Given the description of an element on the screen output the (x, y) to click on. 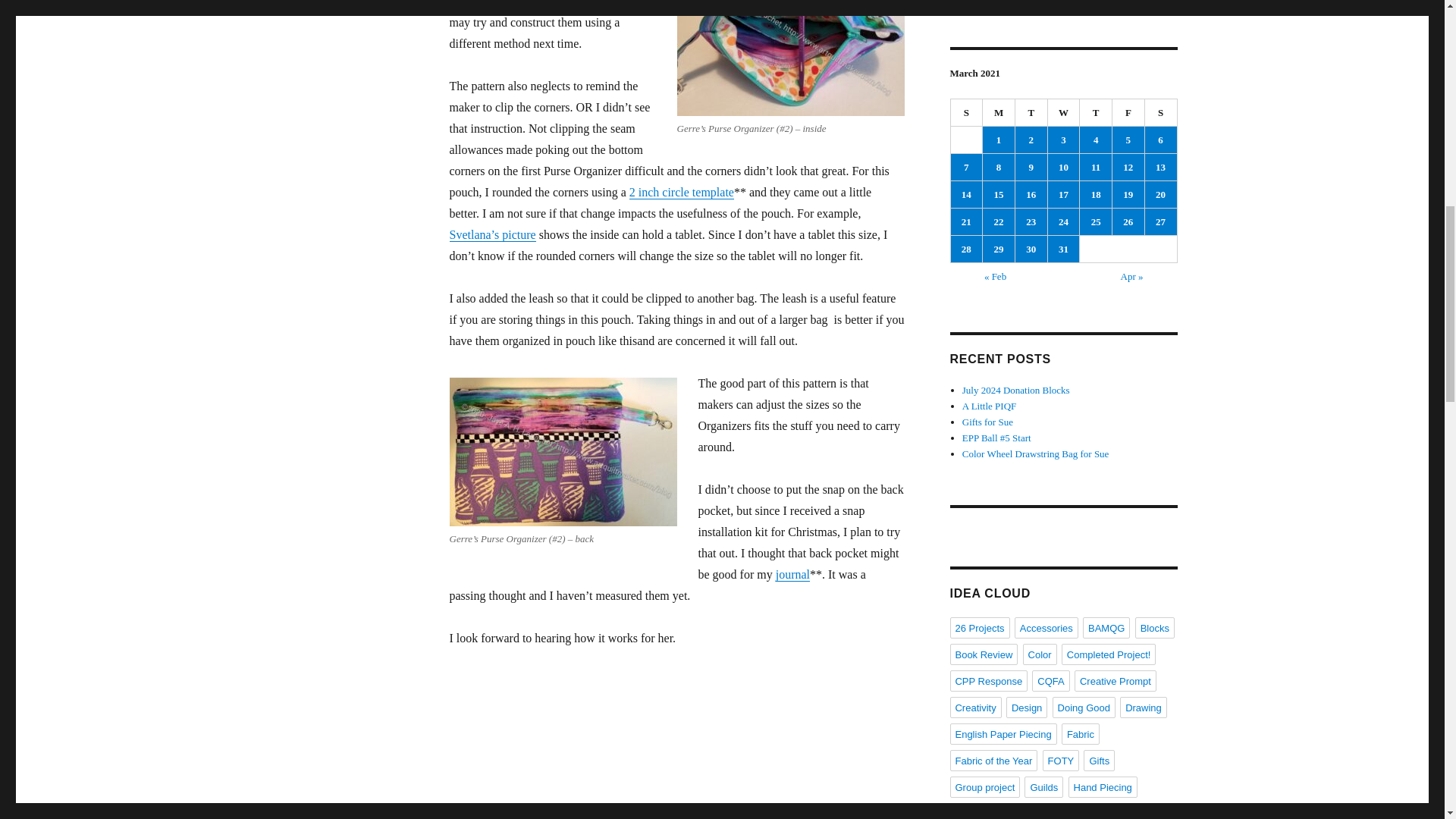
Sunday (967, 112)
Saturday (1160, 112)
Tuesday (1031, 112)
Monday (998, 112)
Thursday (1096, 112)
Friday (1128, 112)
Wednesday (1064, 112)
